Given the description of an element on the screen output the (x, y) to click on. 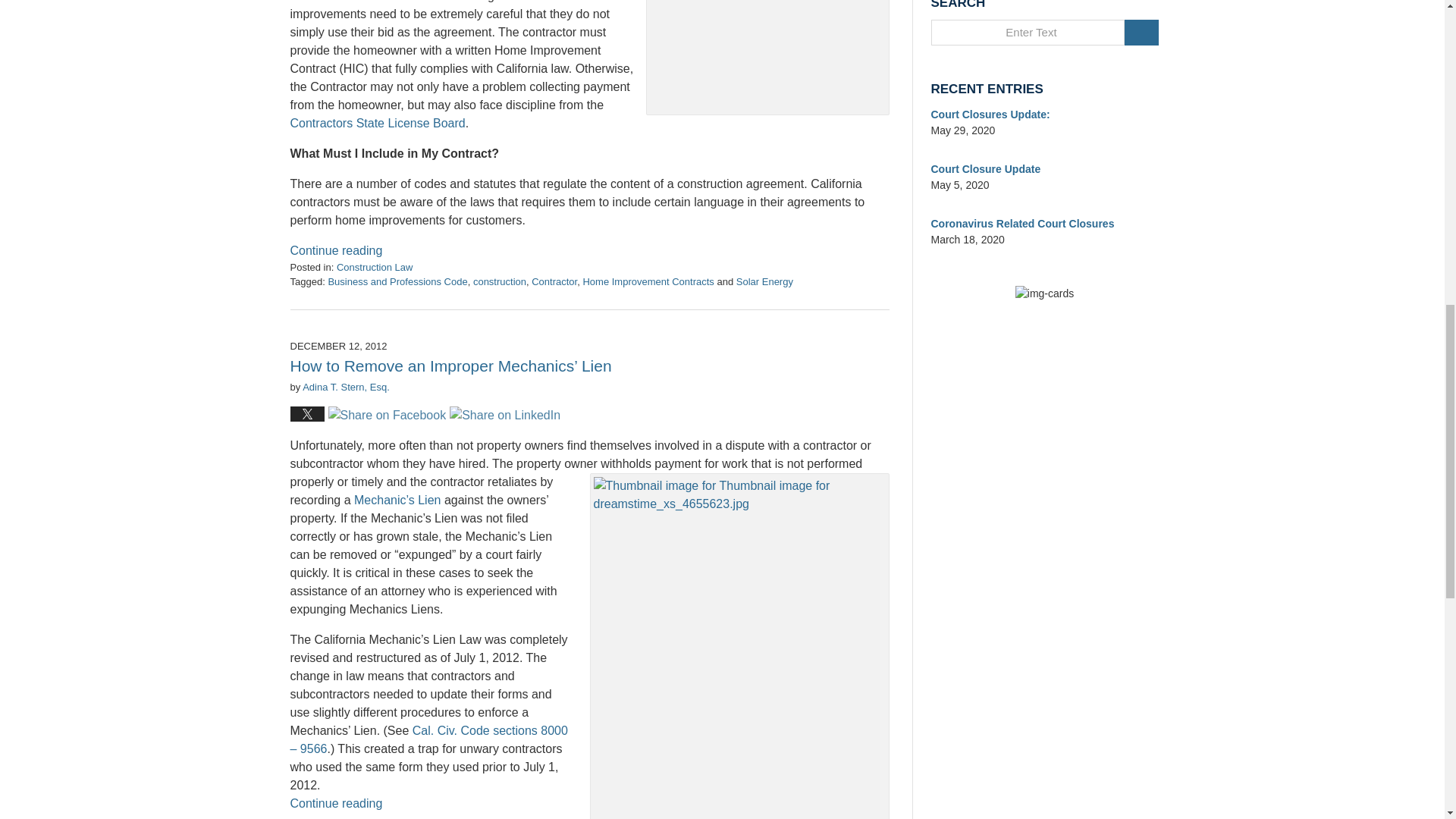
View all posts tagged with Solar Energy (764, 281)
Business and Professions Code (397, 281)
Home Improvement Contracts (647, 281)
Construction Law (374, 266)
Continue reading (335, 250)
View all posts tagged with Home Improvement Contracts (647, 281)
construction (499, 281)
Solar Energy (764, 281)
Contractor (553, 281)
View all posts in Construction Law (374, 266)
View all posts tagged with construction (499, 281)
View all posts tagged with Contractor (553, 281)
Contractors State License Board (376, 123)
View all posts tagged with Business and Professions Code (397, 281)
